Given the description of an element on the screen output the (x, y) to click on. 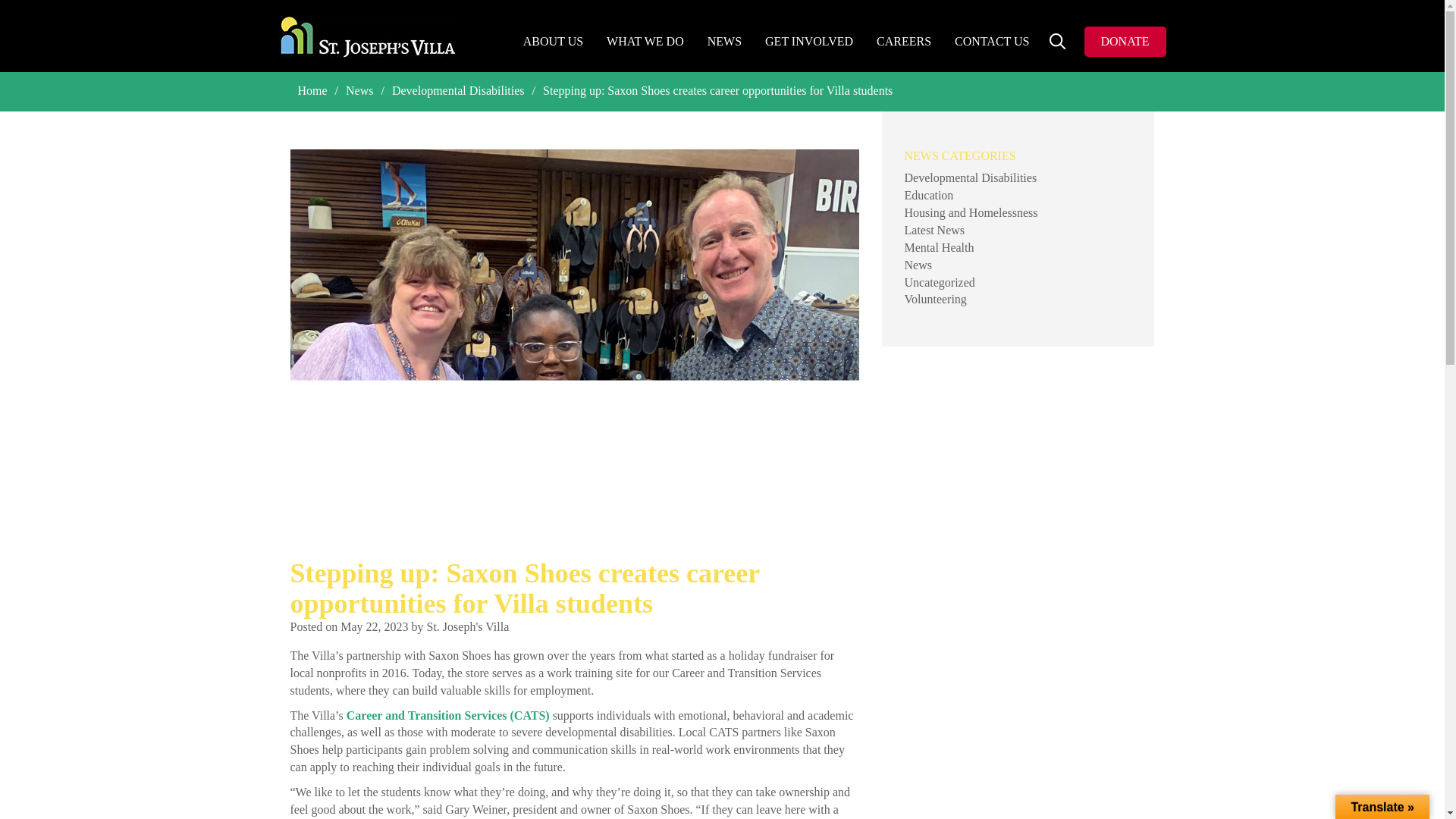
WHAT WE DO (645, 41)
ABOUT US (553, 41)
Go to St. Joseph's Villa. (312, 90)
Go to News. (359, 90)
Go to the Developmental Disabilities category archives. (458, 90)
